Given the description of an element on the screen output the (x, y) to click on. 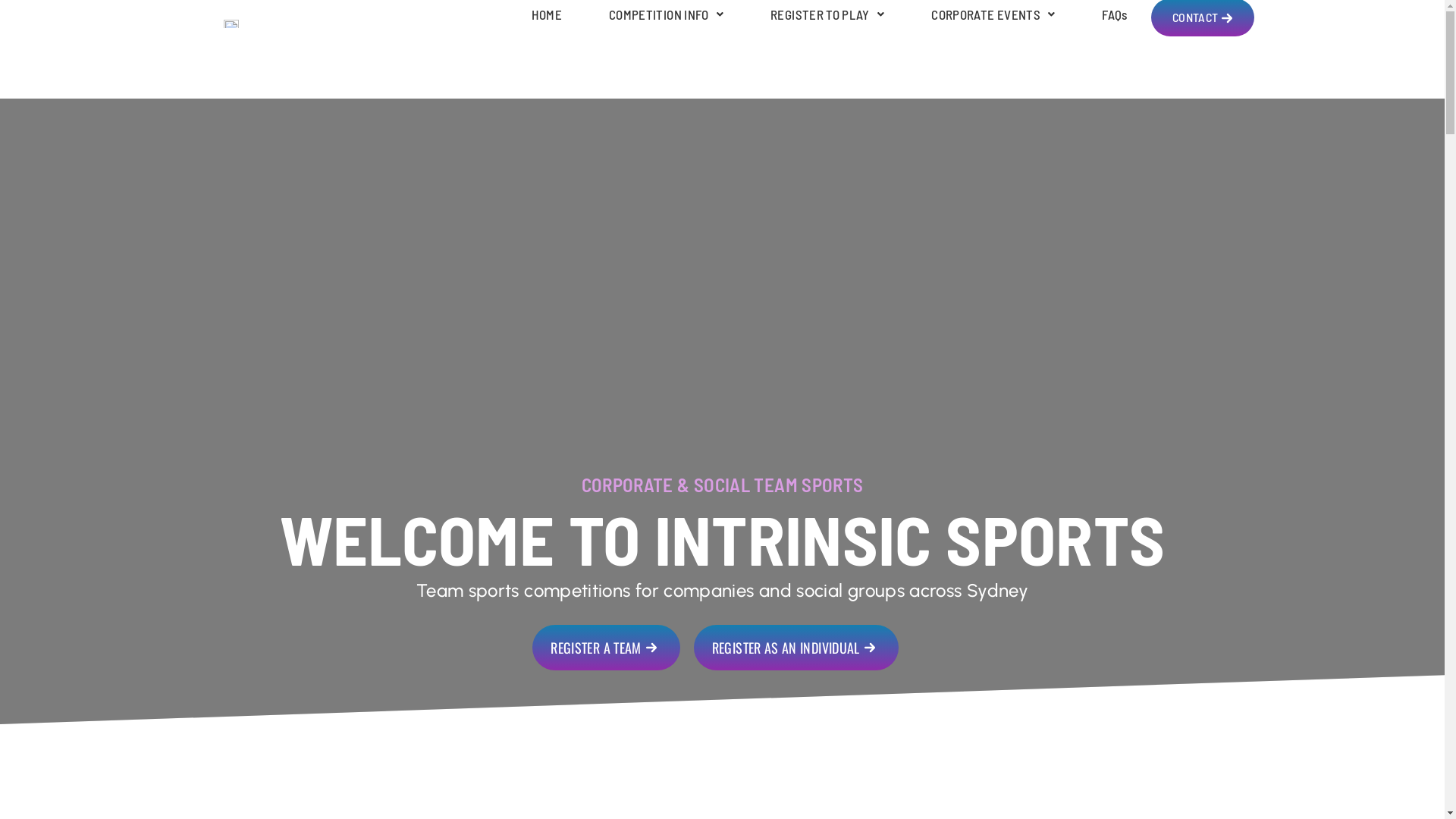
REGISTER AS AN INDIVIDUAL Element type: text (795, 647)
REGISTER TO PLAY Element type: text (826, 13)
FAQs Element type: text (1114, 13)
CORPORATE EVENTS Element type: text (992, 13)
REGISTER A TEAM Element type: text (605, 647)
HOME Element type: text (546, 13)
COMPETITION INFO Element type: text (665, 13)
